Given the description of an element on the screen output the (x, y) to click on. 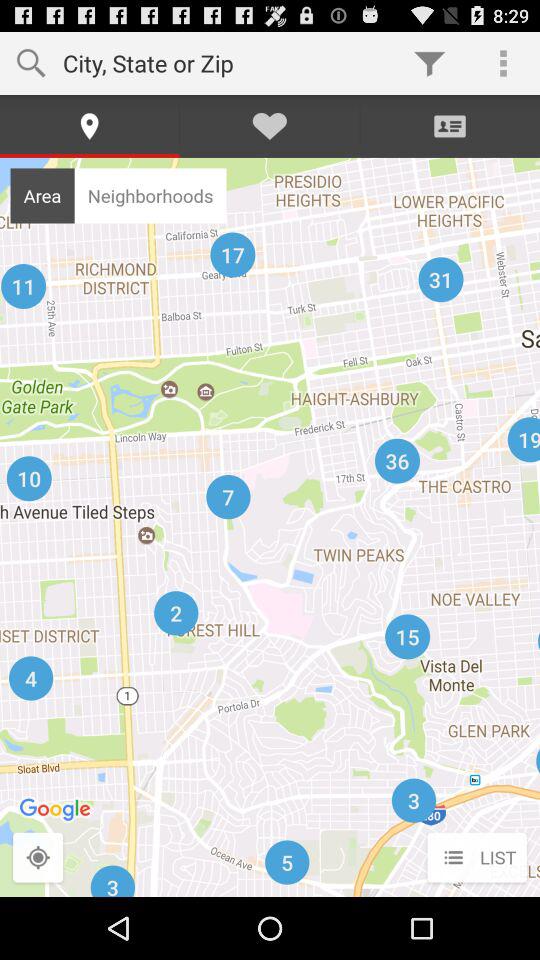
launch the icon to the left of list icon (37, 858)
